Given the description of an element on the screen output the (x, y) to click on. 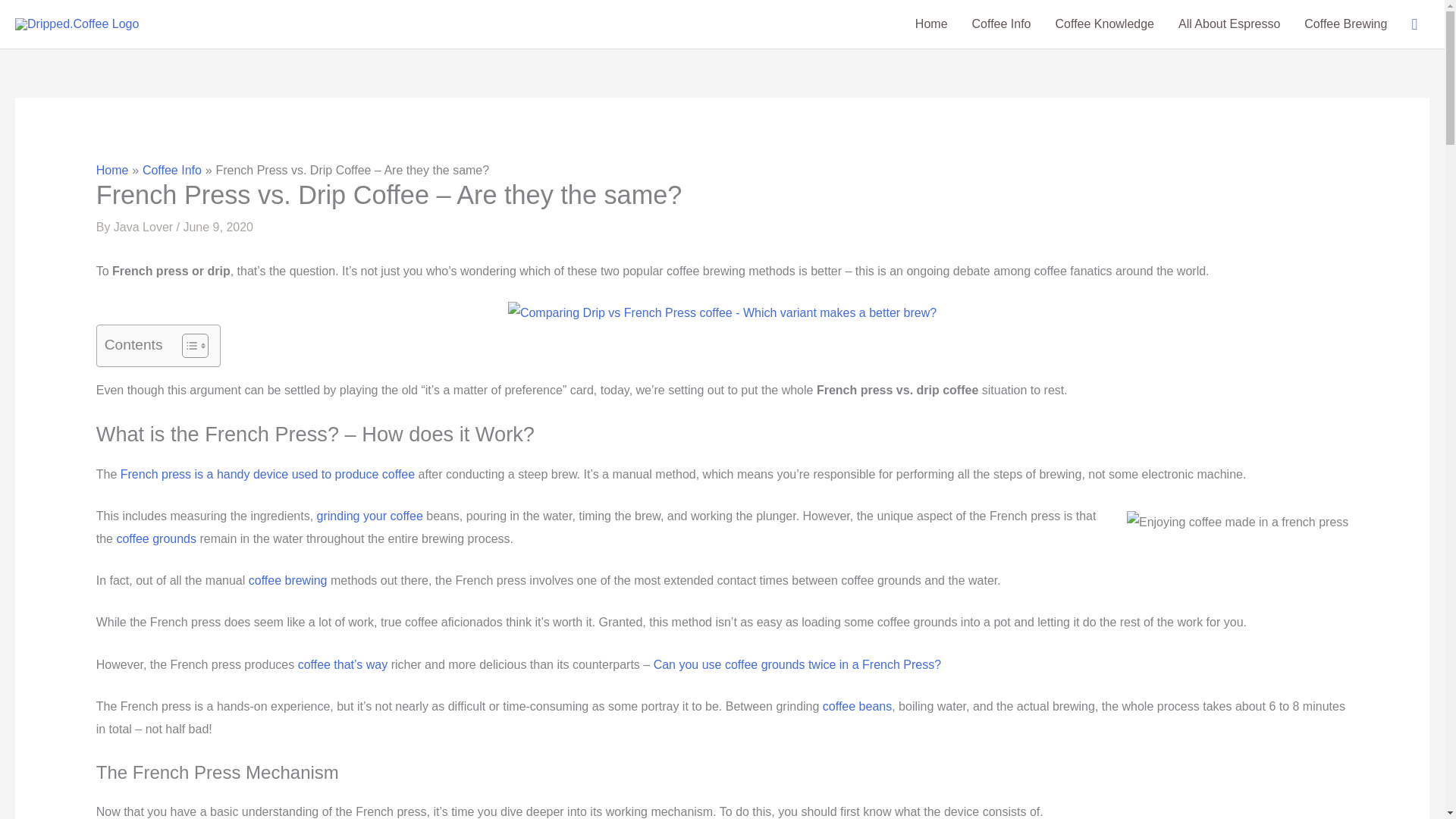
Coffee Knowledge (1104, 24)
Home (930, 24)
Coffee Info (1001, 24)
Java Lover (143, 226)
Can you use coffee grounds twice in a French Press? (796, 664)
French press is a handy device used to produce coffee (267, 473)
coffee brewing (287, 580)
coffee grounds (156, 538)
coffee beans (856, 706)
Coffee Info (172, 169)
